Given the description of an element on the screen output the (x, y) to click on. 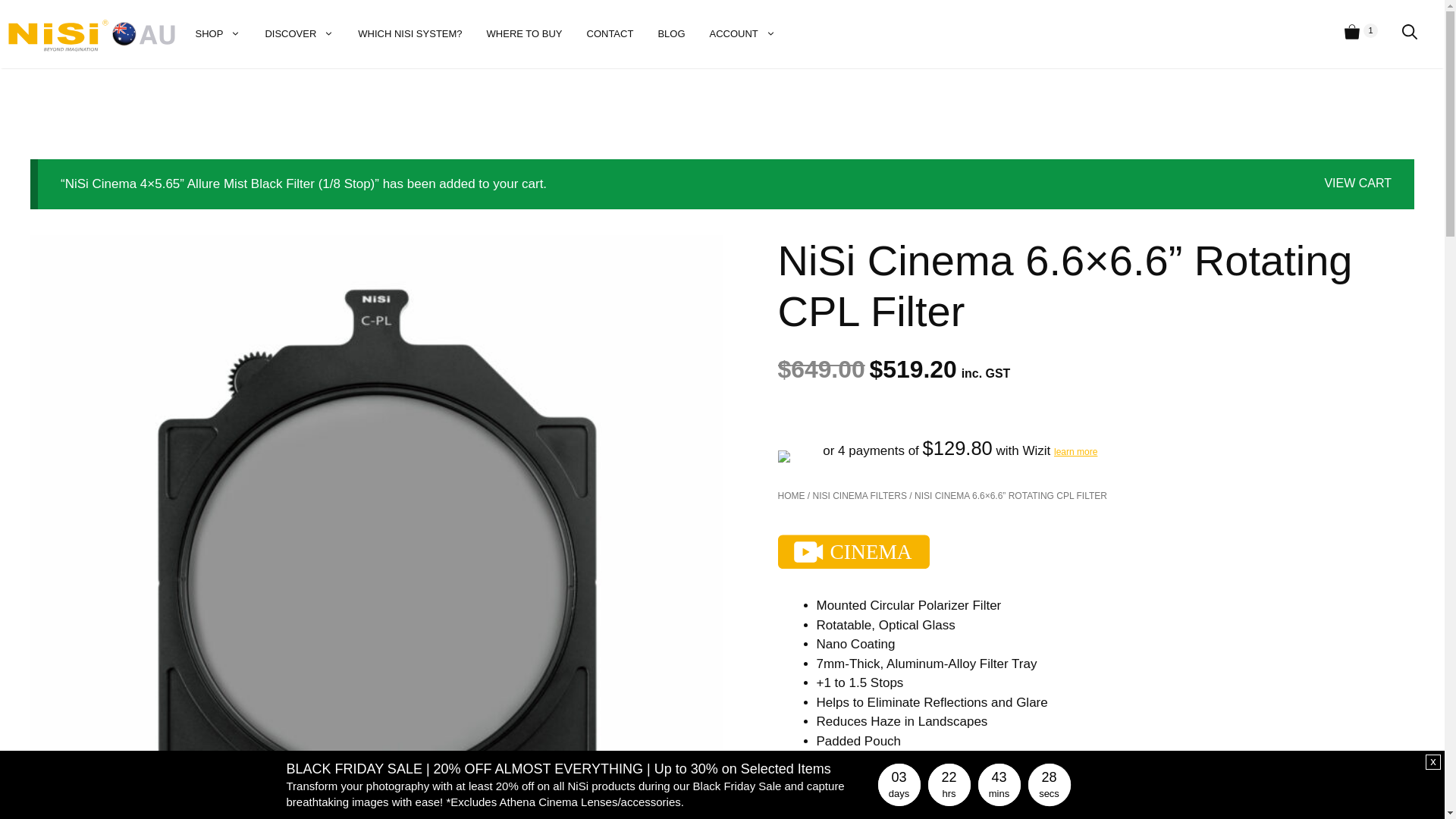
VIEW CART Element type: text (1357, 183)
DISCOVER Element type: text (298, 34)
learn more Element type: text (1075, 451)
WHICH NISI SYSTEM? Element type: text (409, 34)
SHOP Element type: text (218, 34)
NiSi Filters Australia Element type: hover (91, 34)
CONTACT Element type: text (610, 34)
1 Element type: text (1361, 34)
BLOG Element type: text (670, 34)
WHERE TO BUY Element type: text (524, 34)
ACCOUNT Element type: text (742, 34)
HOME Element type: text (791, 495)
NISI CINEMA FILTERS Element type: text (859, 495)
